Given the description of an element on the screen output the (x, y) to click on. 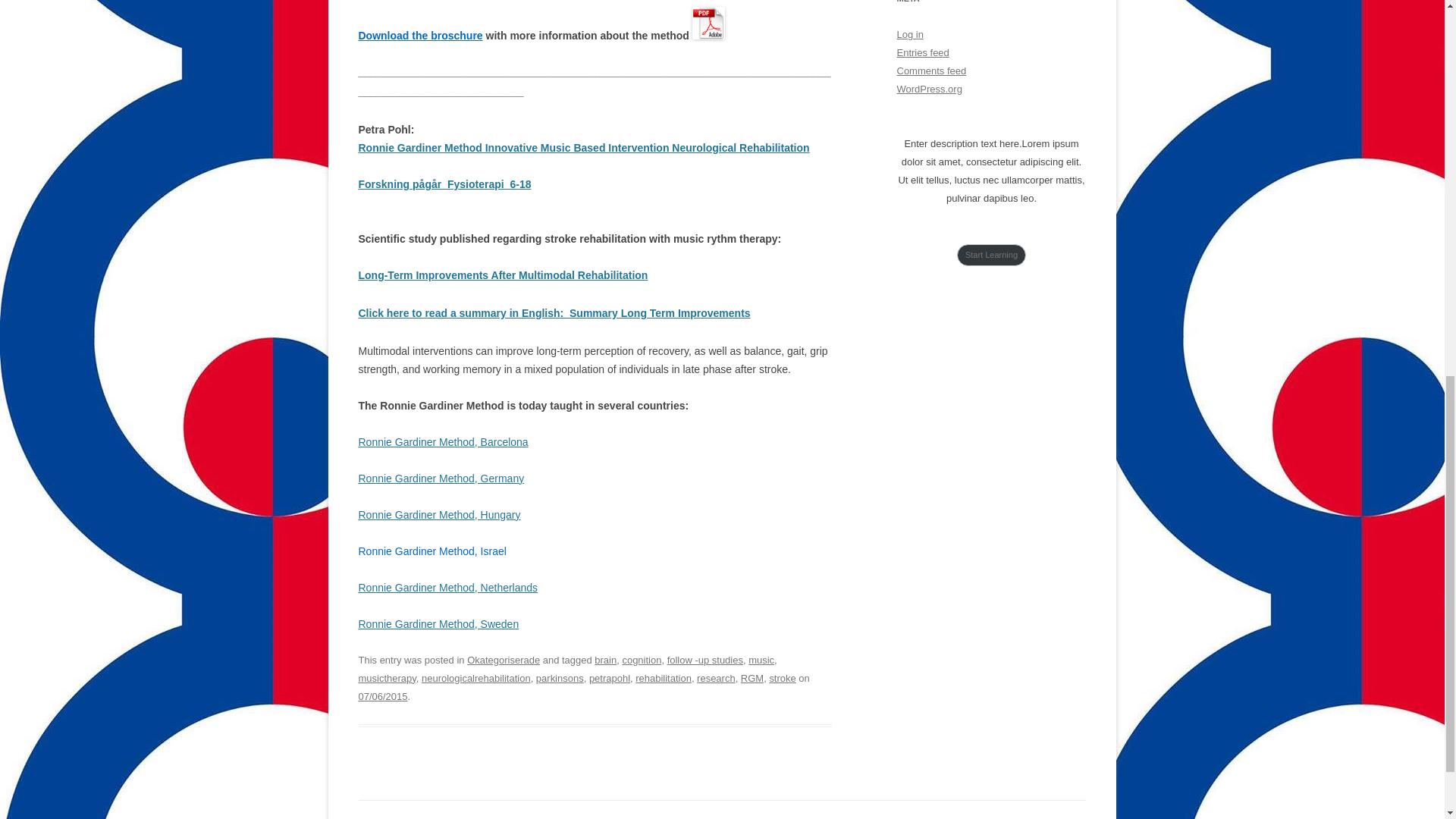
musictherapy (386, 677)
Ronnie Gardiner Method, Hungary (438, 514)
cognition (641, 659)
Okategoriserade (503, 659)
11:30 (382, 696)
Download the broschure (419, 35)
Ronnie Gardiner Method, Sweden (438, 623)
Ronnie Gardiner Method, Netherlands (447, 587)
music (761, 659)
